Given the description of an element on the screen output the (x, y) to click on. 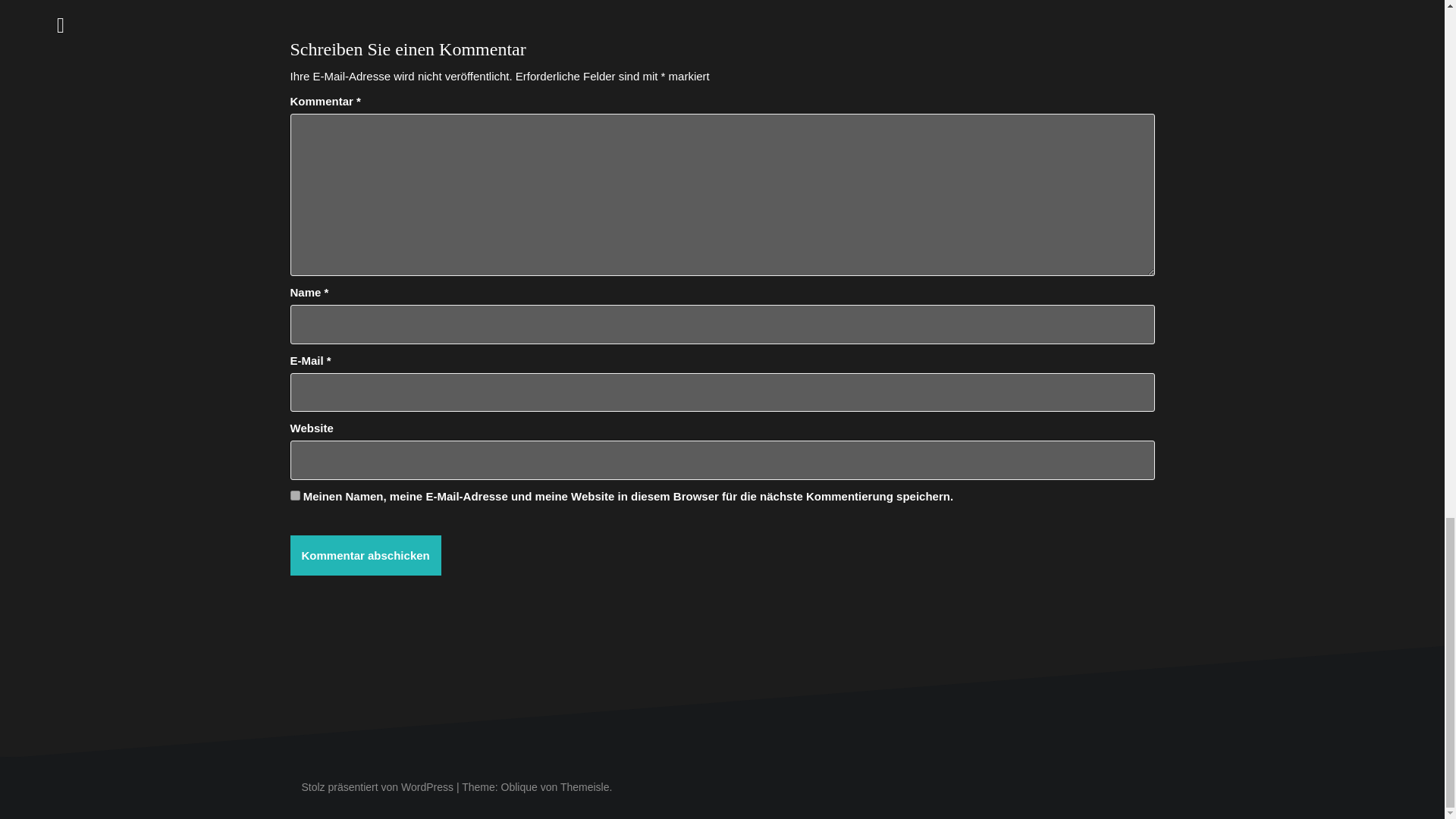
Kommentar abschicken (365, 555)
yes (294, 495)
Kommentar abschicken (365, 555)
